Given the description of an element on the screen output the (x, y) to click on. 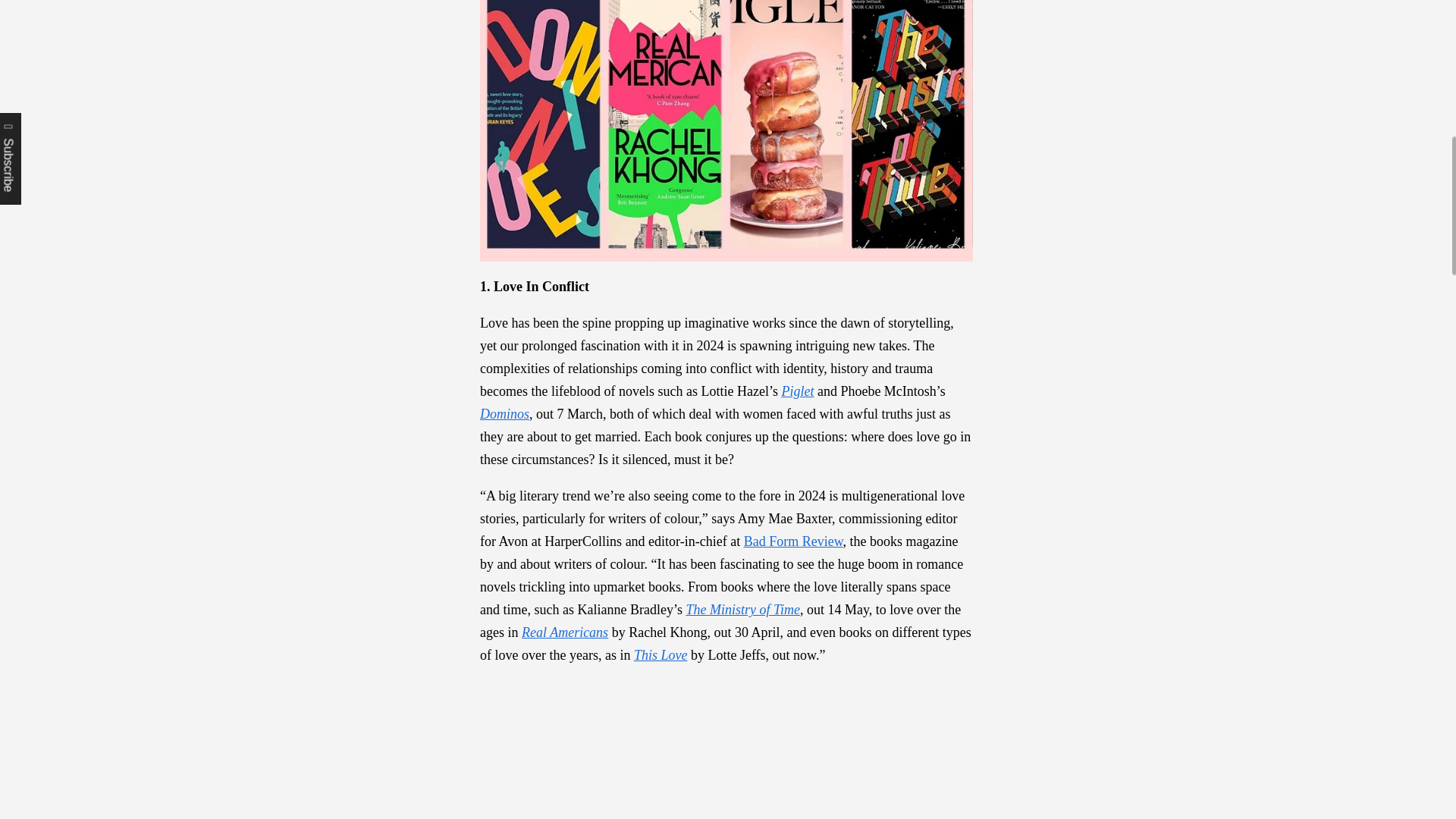
Piglet (796, 391)
This Love (660, 654)
Bad Form Review (793, 540)
Real Americans (564, 631)
The Ministry of Time (742, 609)
Dominos (504, 413)
